Given the description of an element on the screen output the (x, y) to click on. 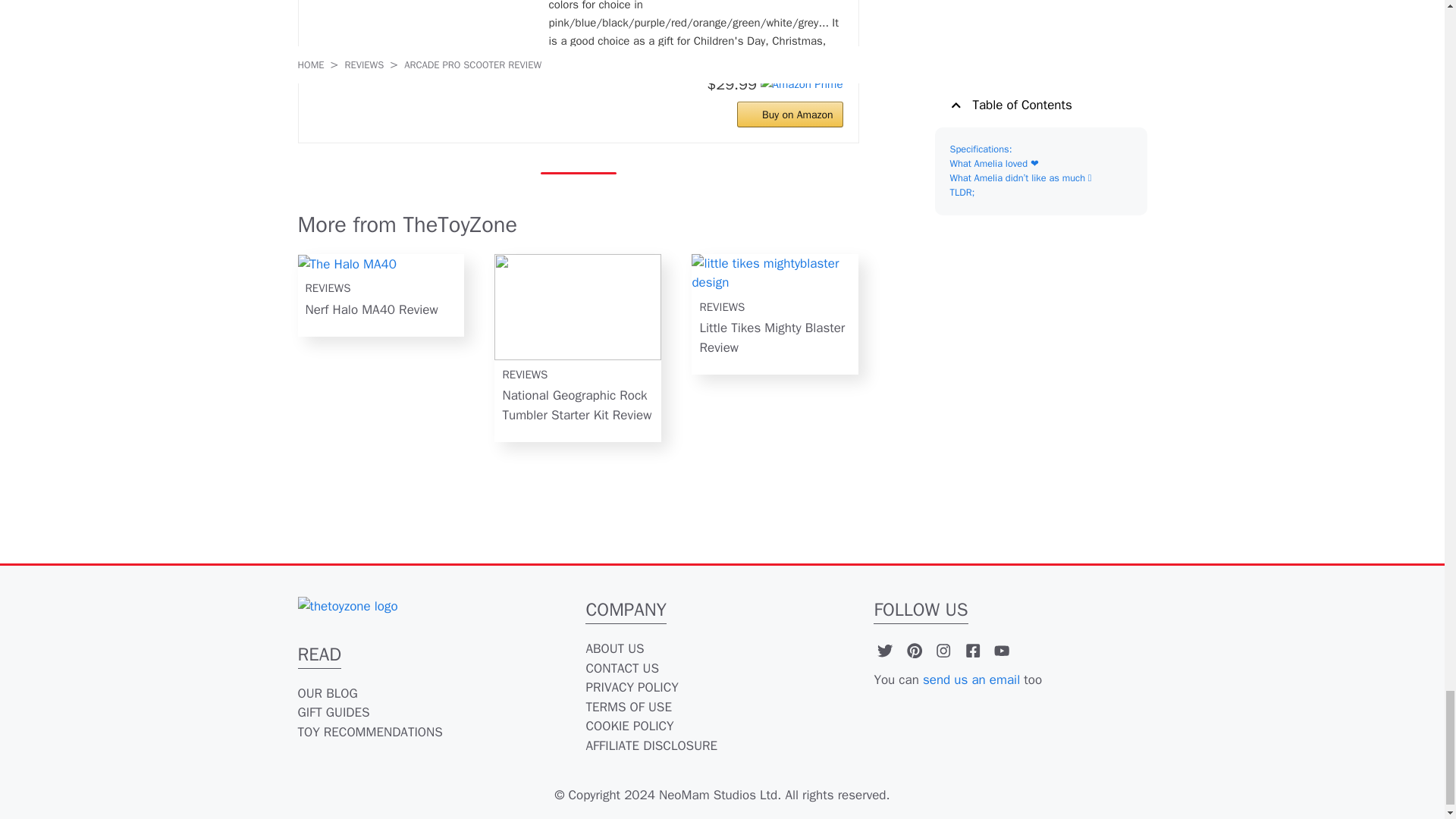
Amazon Prime (801, 83)
thetoyzone logo (347, 606)
Buy on Amazon (789, 114)
